Given the description of an element on the screen output the (x, y) to click on. 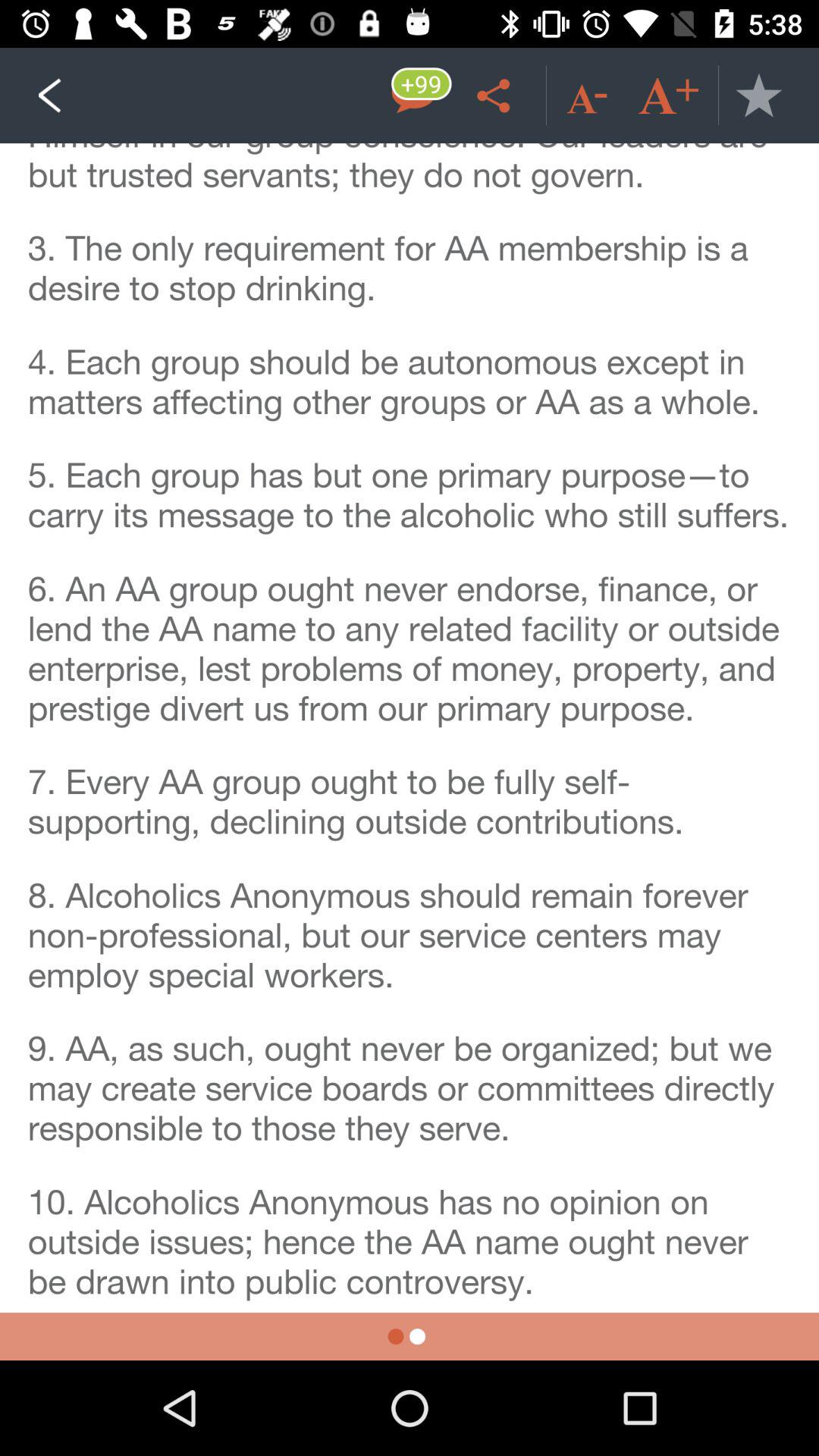
go to favourite (758, 95)
